Given the description of an element on the screen output the (x, y) to click on. 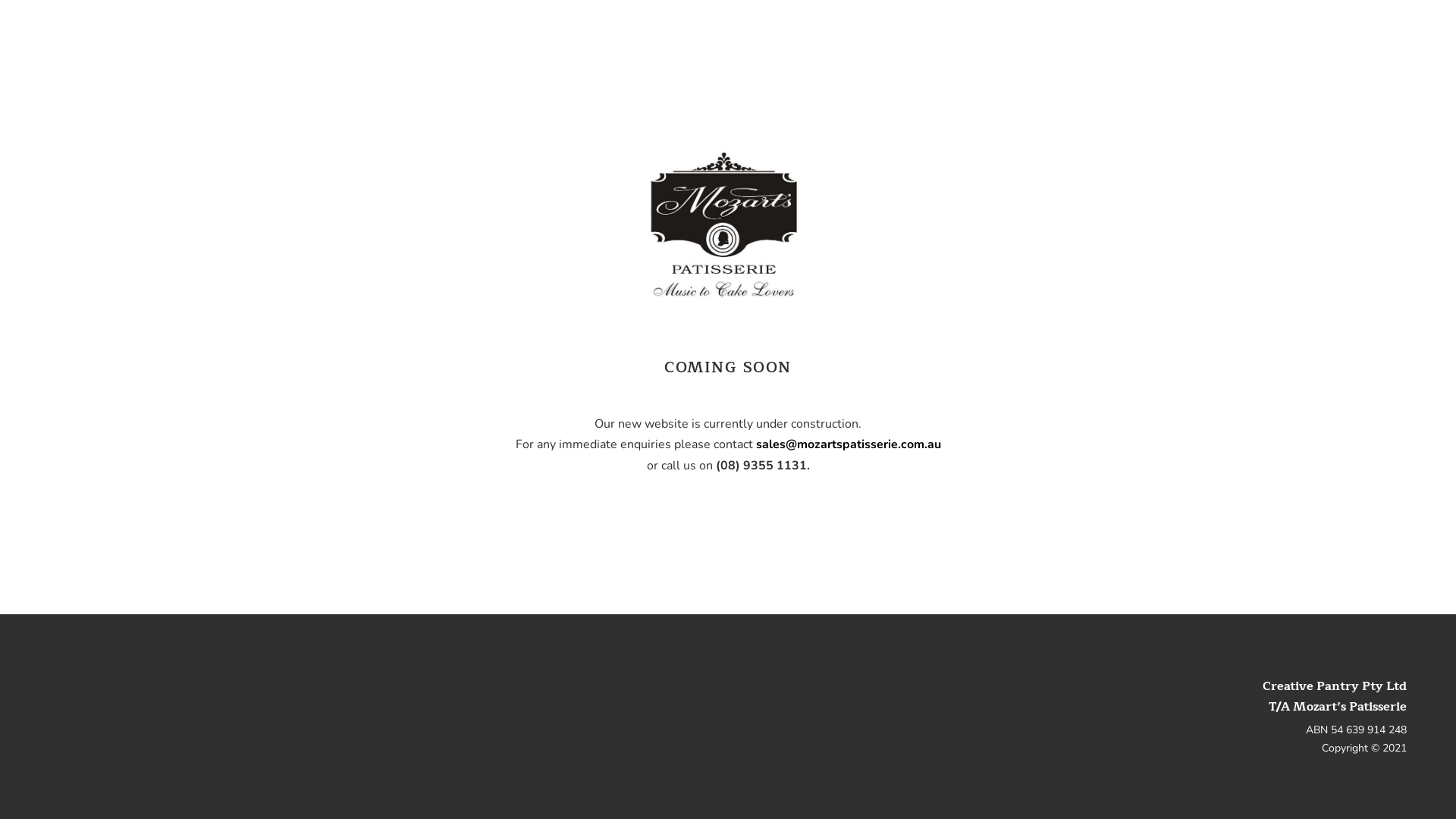
sales@mozartspatisserie.com.au Element type: text (847, 444)
